Given the description of an element on the screen output the (x, y) to click on. 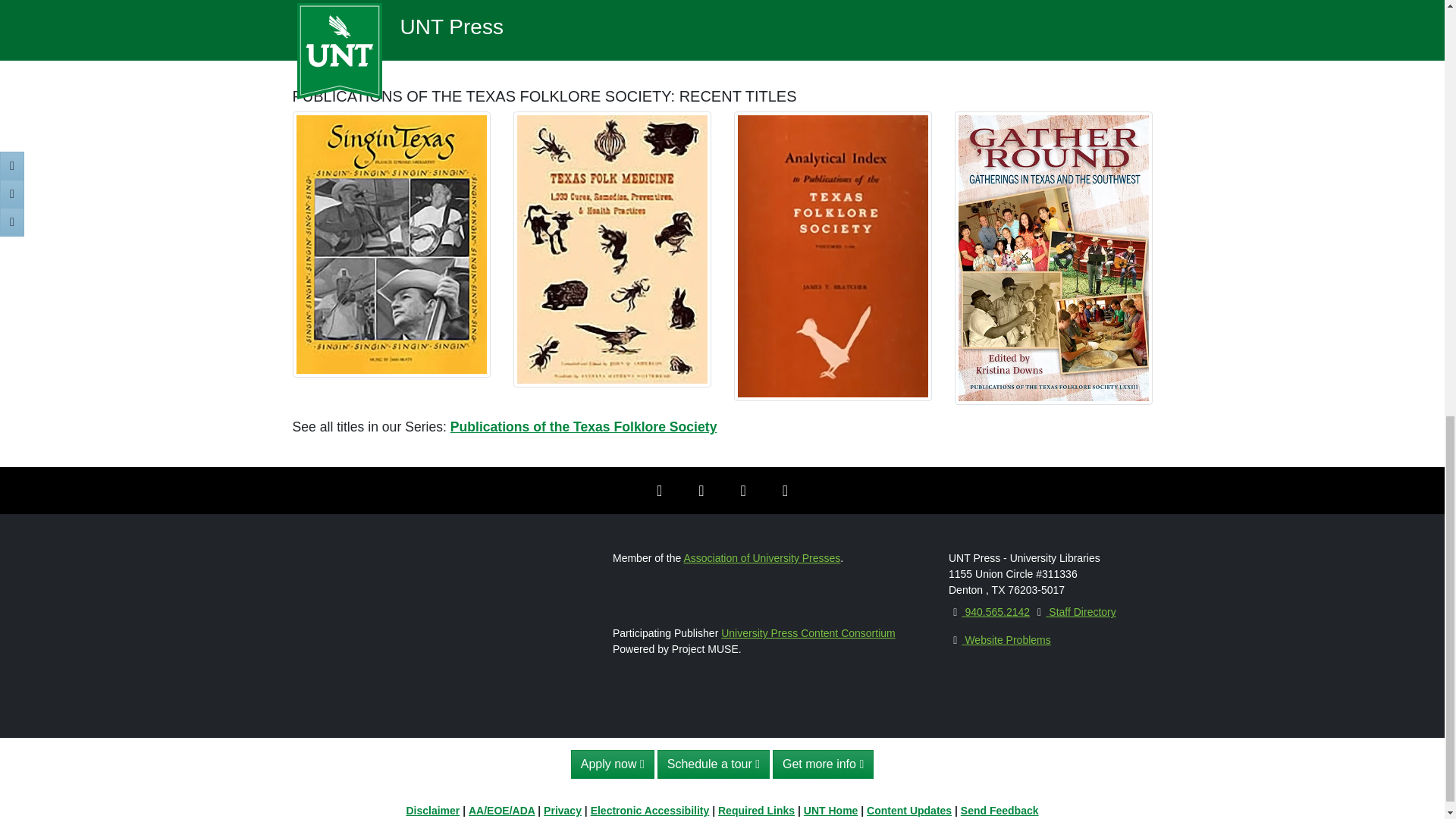
More from Francis Edward Abernethy (402, 46)
Publications of the Texas Folklore Society (583, 426)
